Given the description of an element on the screen output the (x, y) to click on. 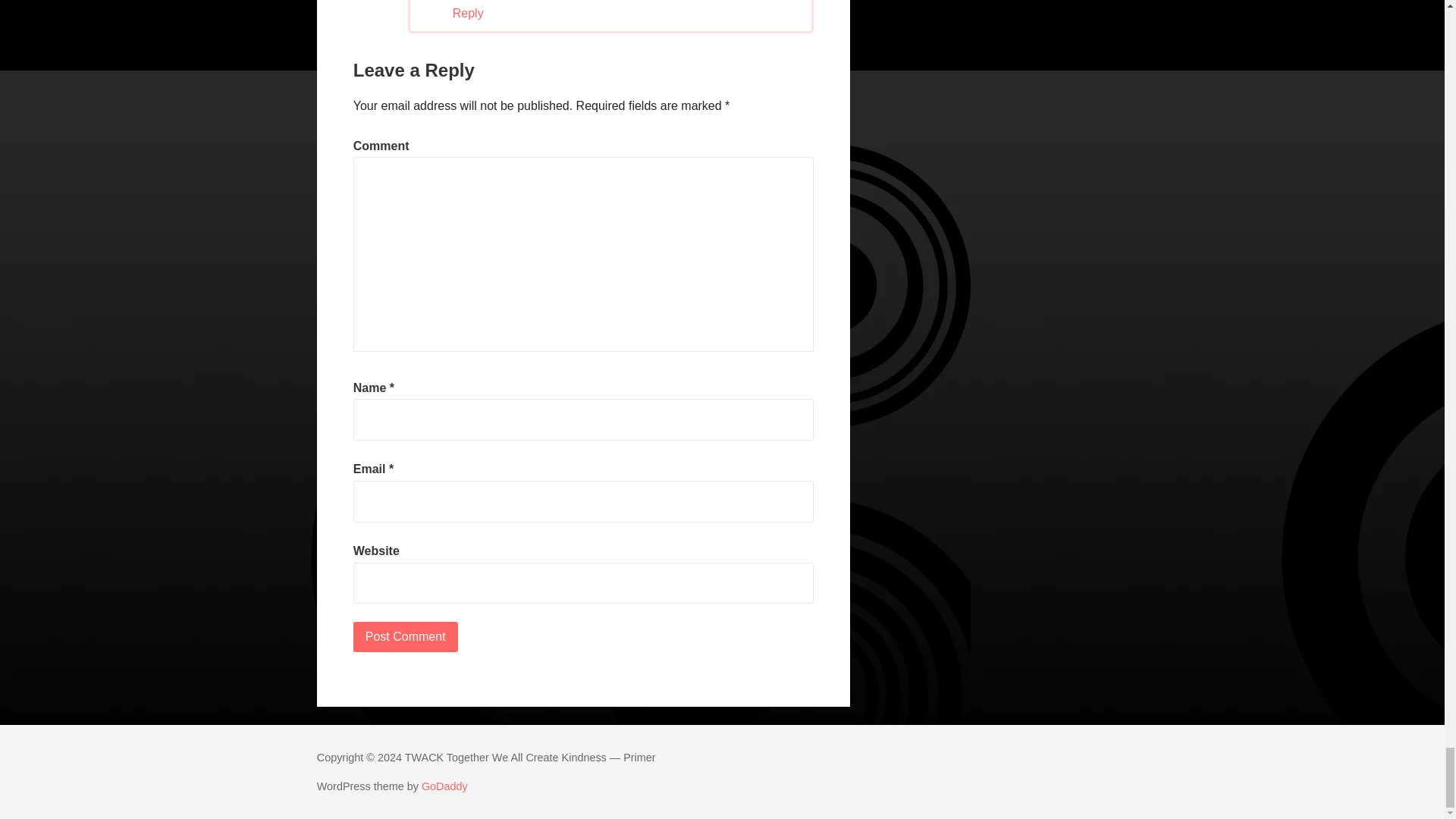
Post Comment (405, 636)
